Given the description of an element on the screen output the (x, y) to click on. 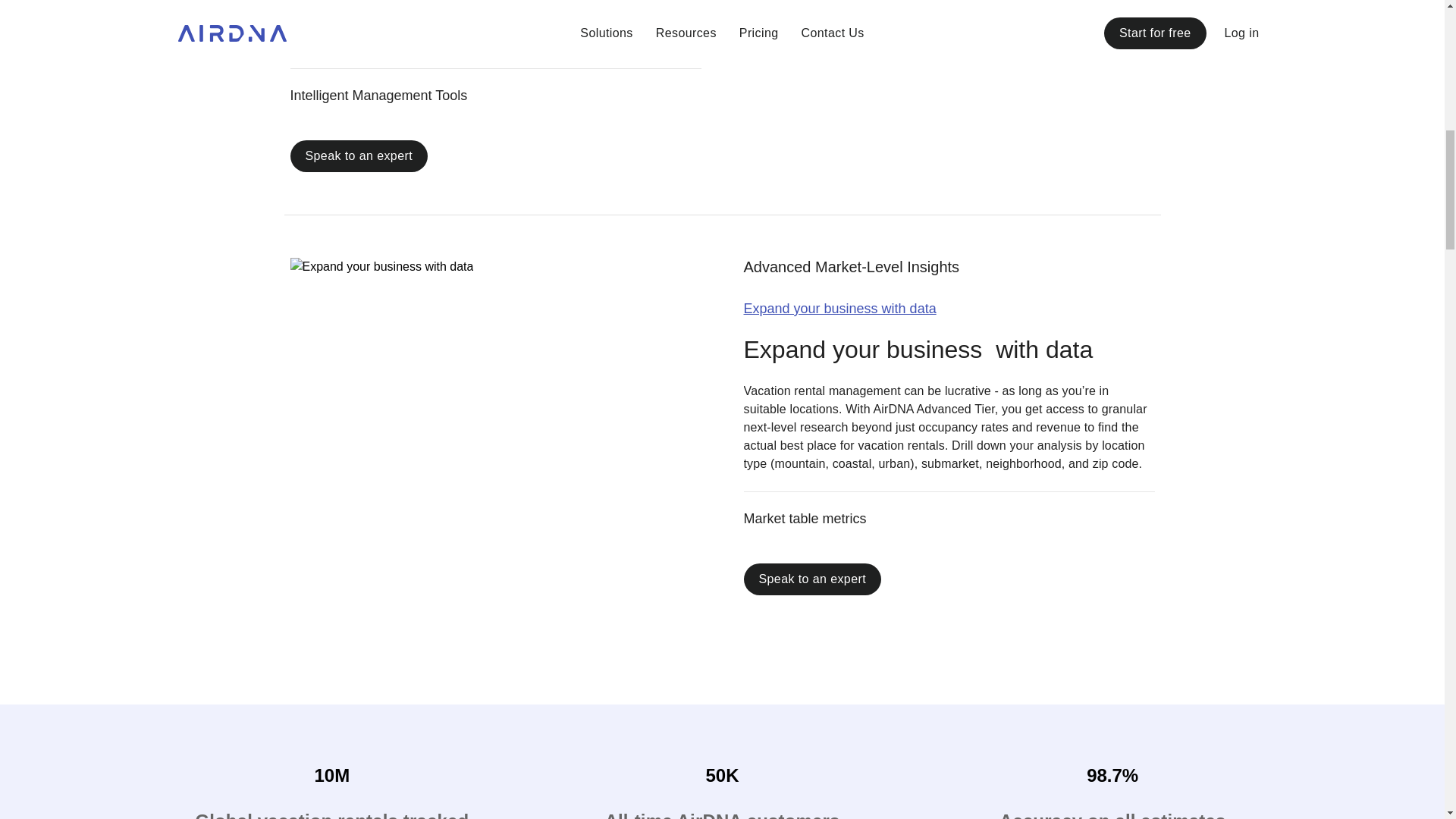
Speak to an expert (811, 579)
Speak to an expert (358, 155)
